Given the description of an element on the screen output the (x, y) to click on. 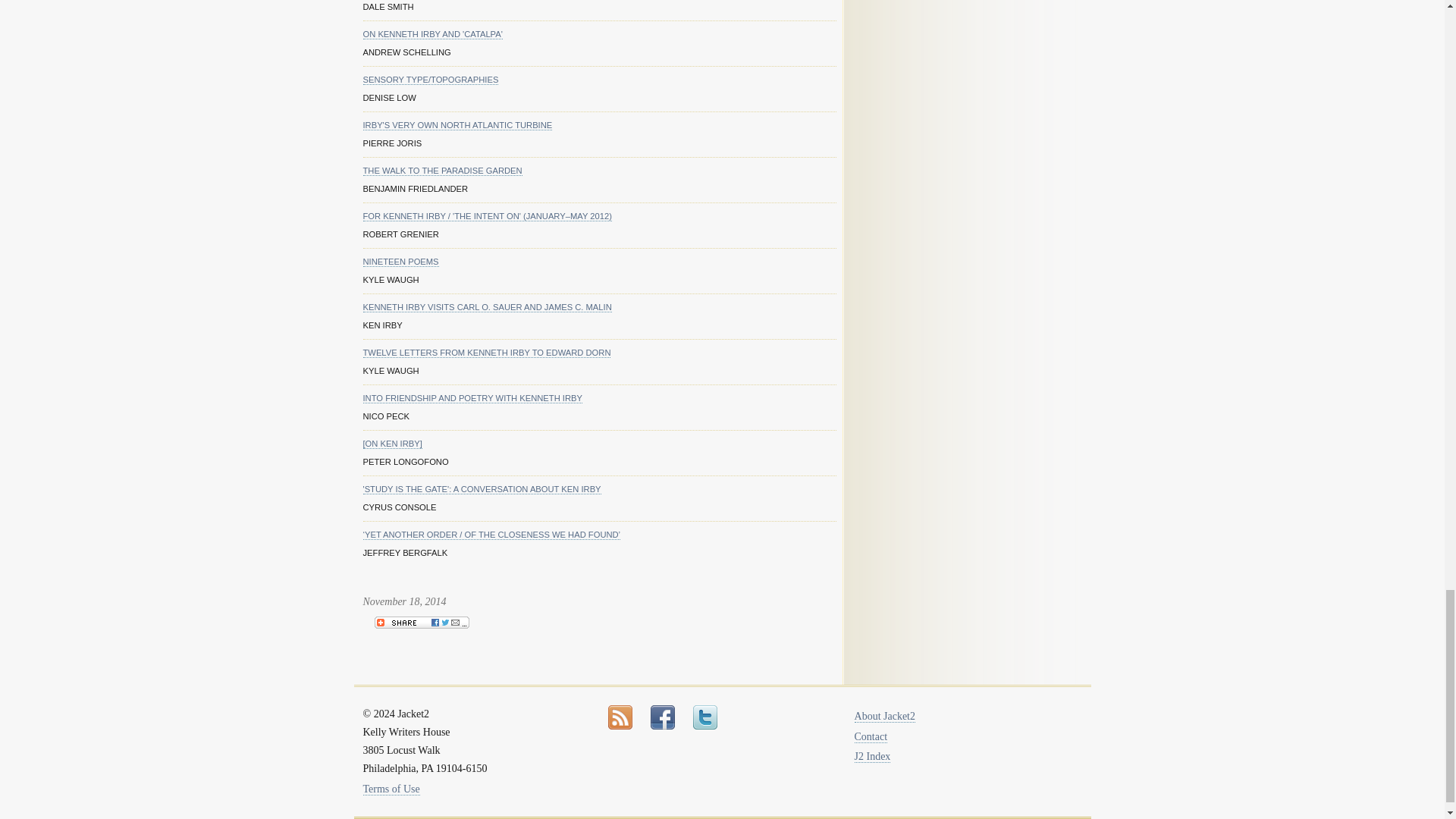
'STUDY IS THE GATE': A CONVERSATION ABOUT KEN IRBY (480, 489)
INTO FRIENDSHIP AND POETRY WITH KENNETH IRBY (471, 398)
Contact (871, 736)
THE WALK TO THE PARADISE GARDEN (441, 171)
ON KENNETH IRBY AND 'CATALPA' (432, 34)
Terms of Use (390, 788)
Index of Jacket 2 Content (872, 756)
IRBY'S VERY OWN NORTH ATLANTIC TURBINE (456, 125)
TWELVE LETTERS FROM KENNETH IRBY TO EDWARD DORN (486, 352)
KENNETH IRBY VISITS CARL O. SAUER AND JAMES C. MALIN (486, 307)
